Given the description of an element on the screen output the (x, y) to click on. 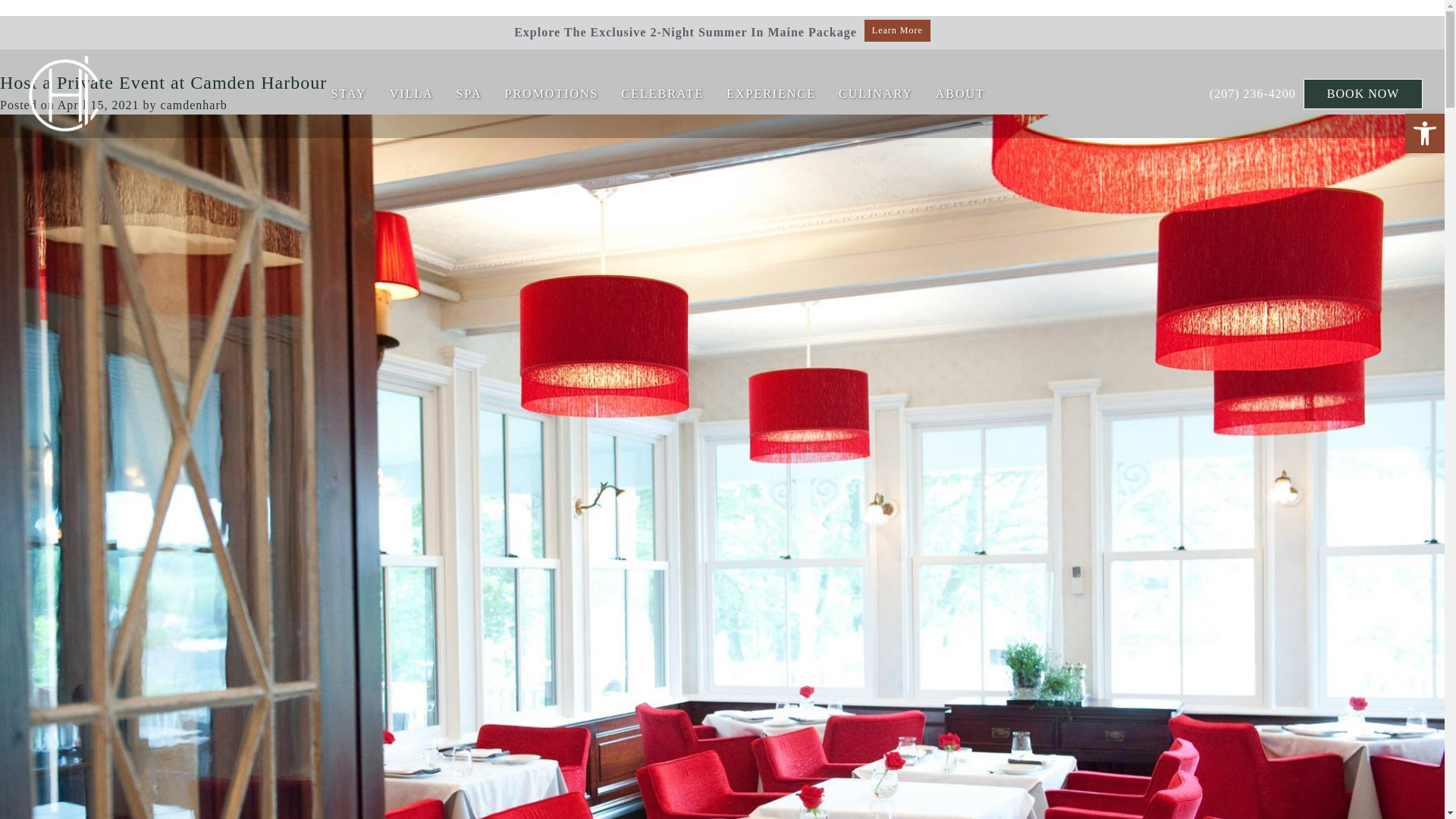
camdenharb (193, 104)
EXPERIENCE (770, 94)
Learn More (897, 30)
April 15, 2021 (98, 104)
CULINARY (875, 94)
Host a Private Event at Camden Harbour (163, 82)
SPA (469, 94)
STAY (348, 94)
VILLA (411, 94)
Accessibility Tools (1424, 133)
